Given the description of an element on the screen output the (x, y) to click on. 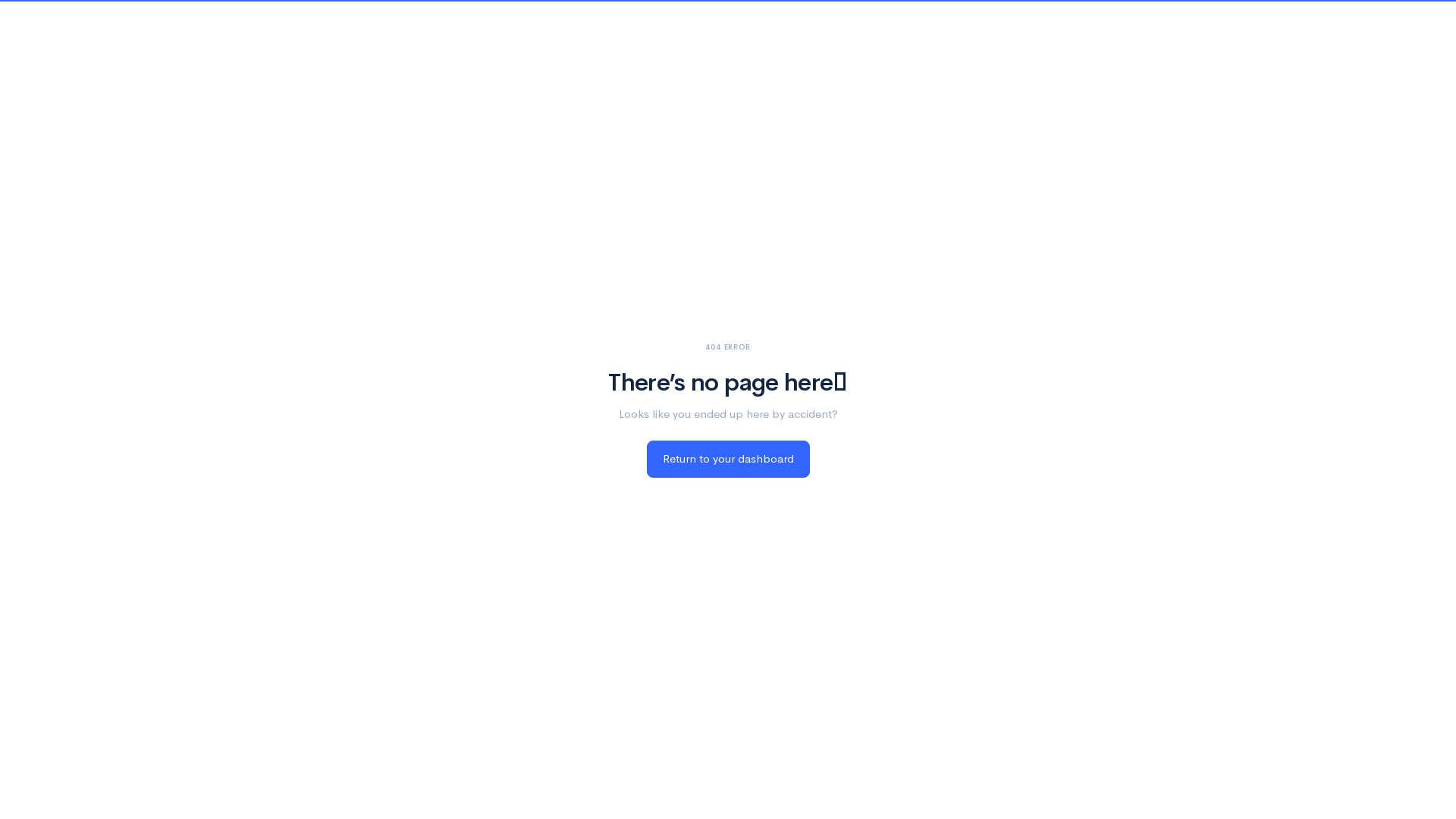
Return to your dashboard Element type: text (727, 458)
